Given the description of an element on the screen output the (x, y) to click on. 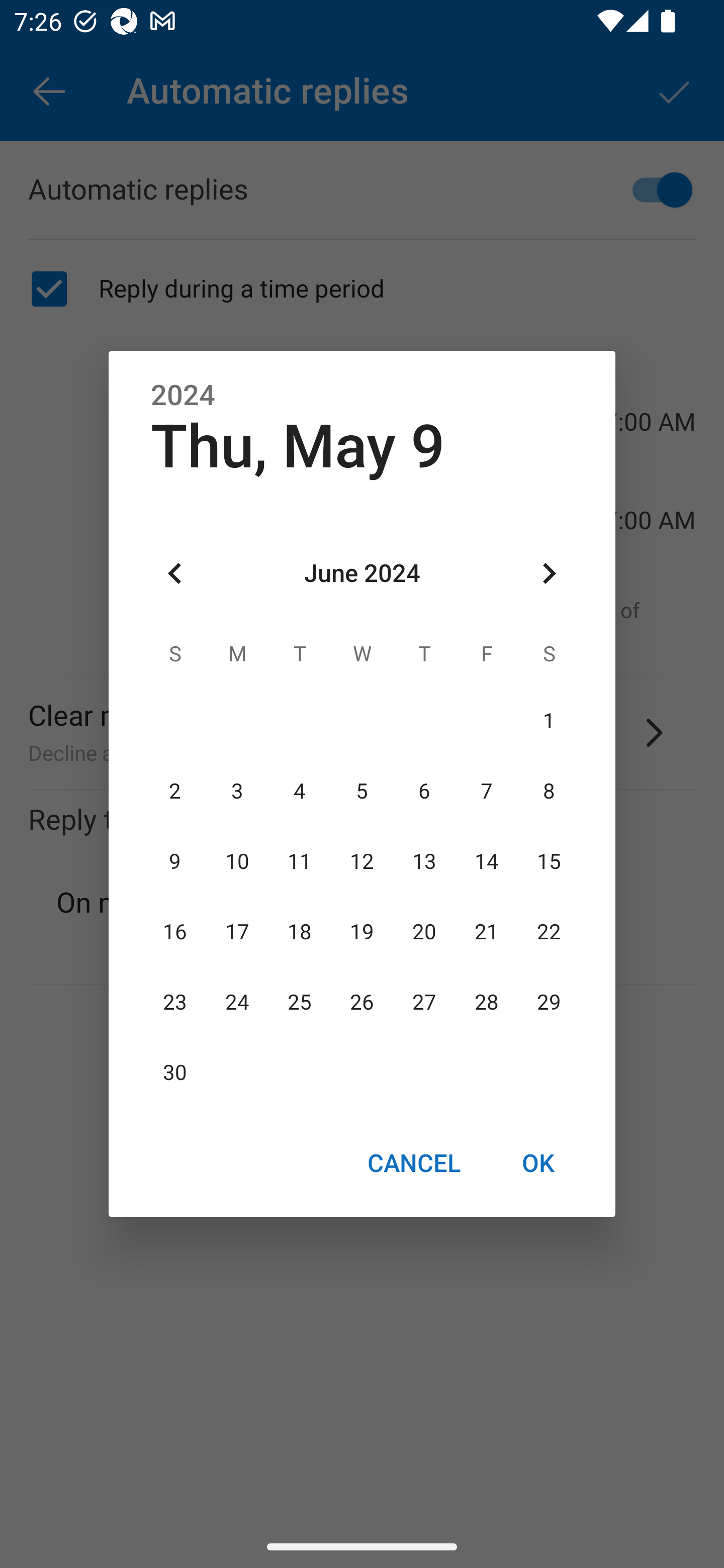
2024 (182, 395)
Thu, May 9 (297, 446)
Previous month (174, 573)
Next month (548, 573)
1 01 June 2024 (548, 720)
2 02 June 2024 (175, 790)
3 03 June 2024 (237, 790)
4 04 June 2024 (299, 790)
5 05 June 2024 (361, 790)
6 06 June 2024 (424, 790)
7 07 June 2024 (486, 790)
8 08 June 2024 (548, 790)
9 09 June 2024 (175, 861)
10 10 June 2024 (237, 861)
11 11 June 2024 (299, 861)
12 12 June 2024 (361, 861)
13 13 June 2024 (424, 861)
14 14 June 2024 (486, 861)
15 15 June 2024 (548, 861)
16 16 June 2024 (175, 931)
17 17 June 2024 (237, 931)
18 18 June 2024 (299, 931)
19 19 June 2024 (361, 931)
20 20 June 2024 (424, 931)
21 21 June 2024 (486, 931)
22 22 June 2024 (548, 931)
23 23 June 2024 (175, 1002)
24 24 June 2024 (237, 1002)
25 25 June 2024 (299, 1002)
26 26 June 2024 (361, 1002)
27 27 June 2024 (424, 1002)
28 28 June 2024 (486, 1002)
29 29 June 2024 (548, 1002)
30 30 June 2024 (175, 1073)
CANCEL (413, 1162)
OK (537, 1162)
